Given the description of an element on the screen output the (x, y) to click on. 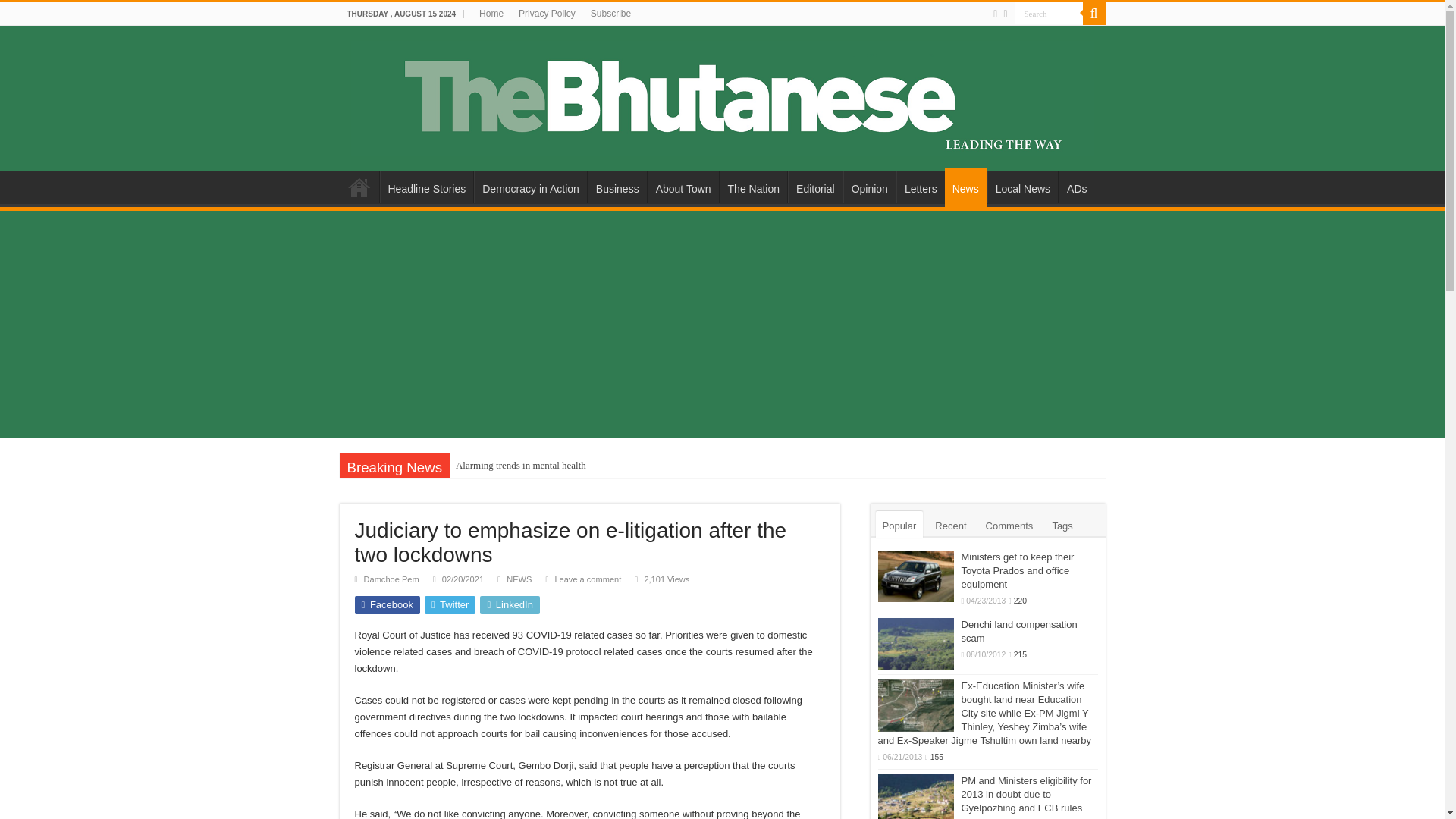
The Bhutanese (721, 94)
About Town (683, 187)
News (965, 187)
Search (1048, 13)
Privacy Policy (547, 13)
HOME (358, 187)
Home (491, 13)
The Nation (753, 187)
Headline Stories (425, 187)
ADs (1076, 187)
